Given the description of an element on the screen output the (x, y) to click on. 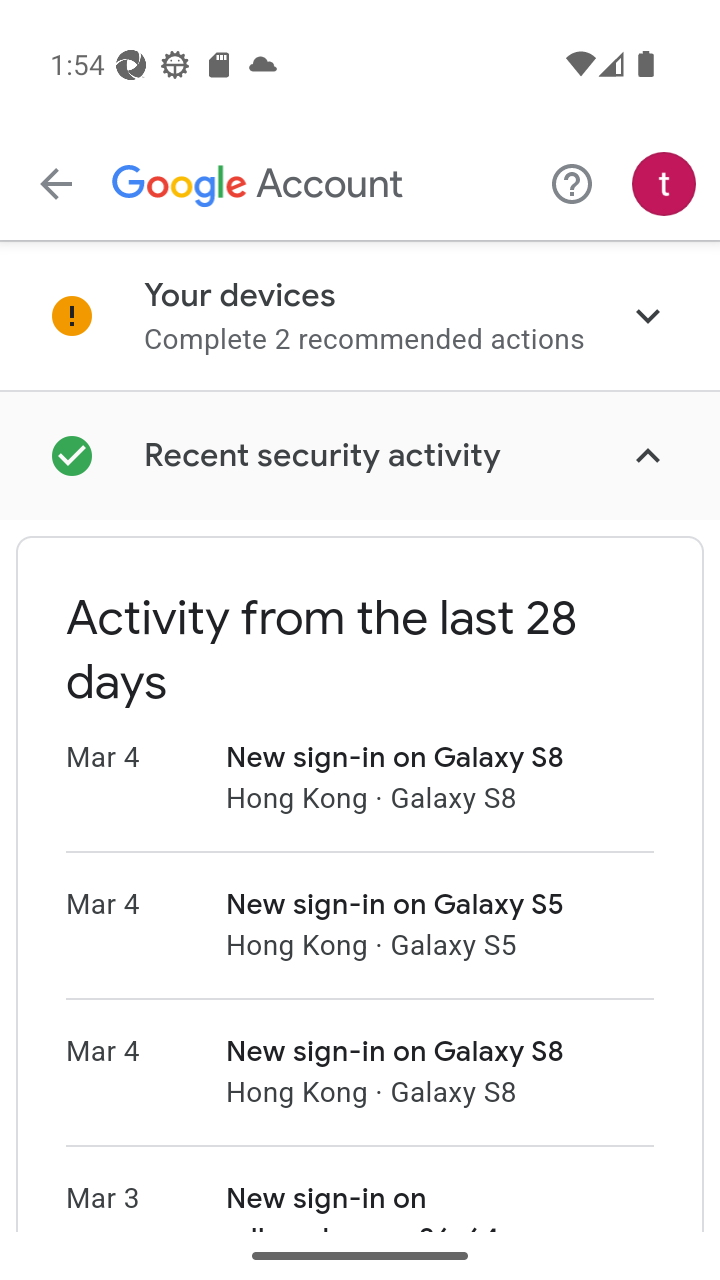
Navigate up (56, 184)
Help & feedback (571, 183)
No issues found in recent account activity (360, 455)
